Given the description of an element on the screen output the (x, y) to click on. 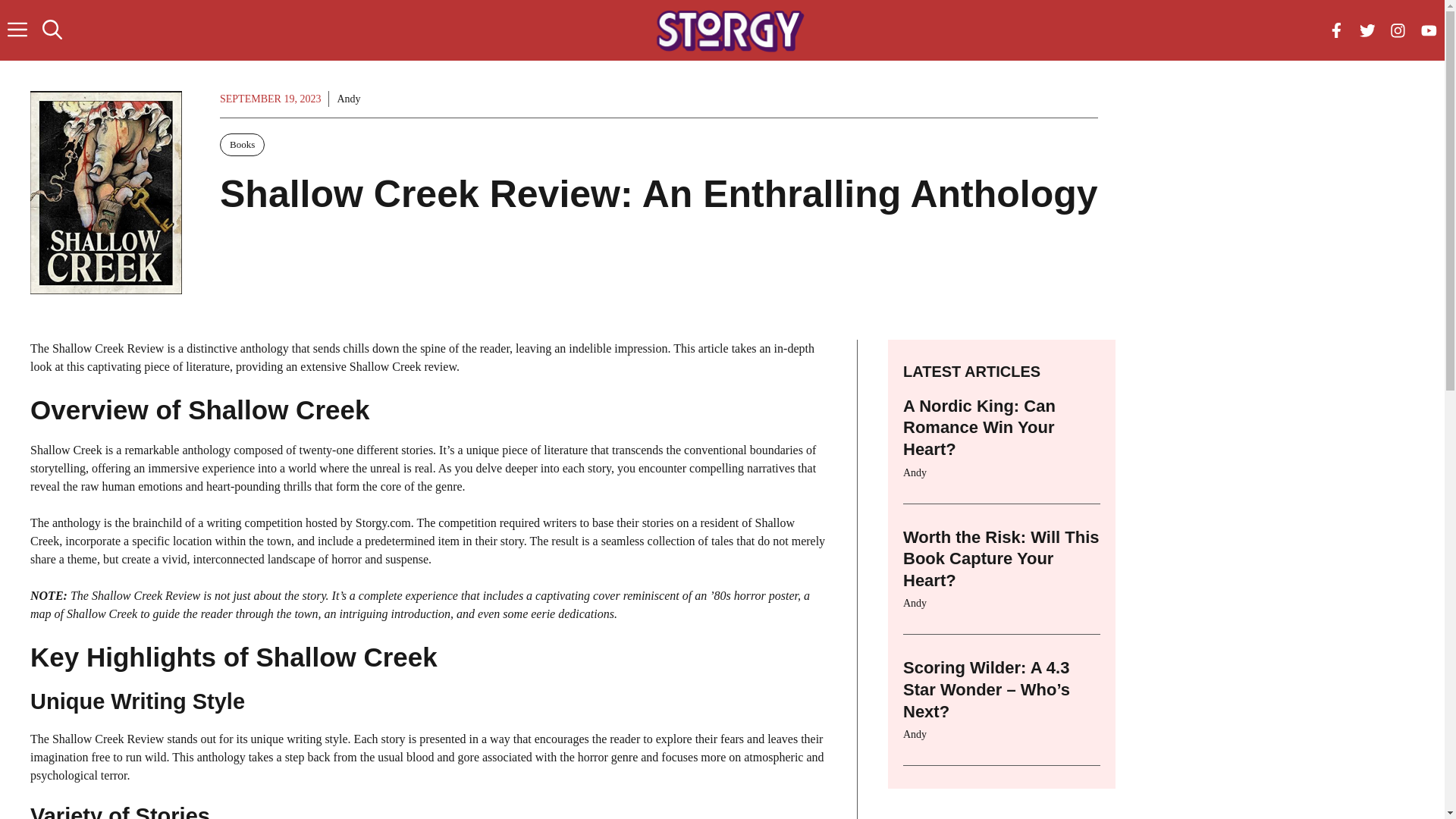
Andy (914, 603)
A Nordic King: Can Romance Win Your Heart? (978, 427)
Andy (914, 734)
Worth the Risk: Will This Book Capture Your Heart? (1000, 558)
Storgy (729, 30)
Andy (914, 472)
Books (241, 144)
Andy (347, 98)
